Given the description of an element on the screen output the (x, y) to click on. 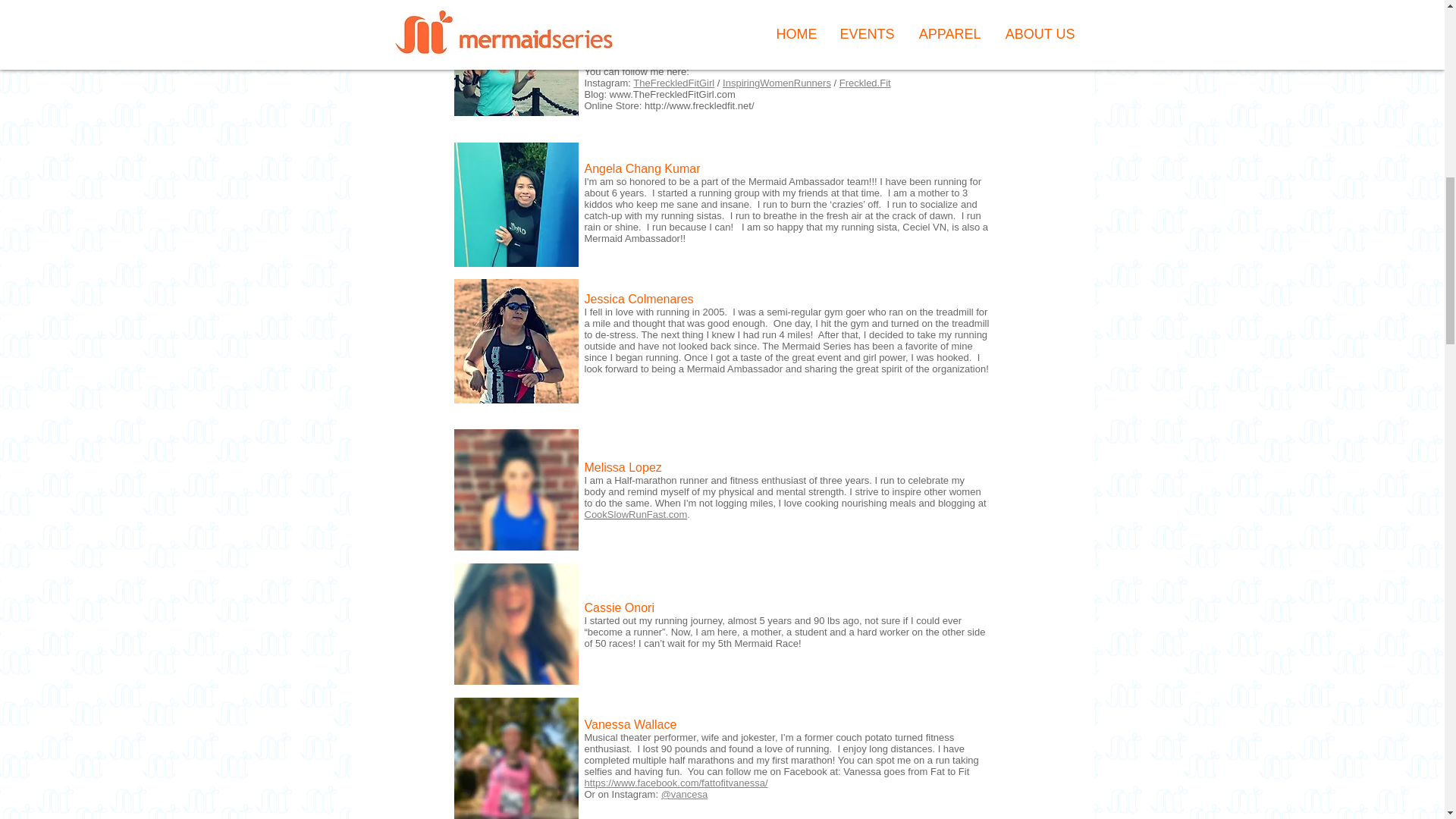
www.TheFreckledFitGirl.com (672, 93)
CookSlowRunFast.com (635, 514)
